Given the description of an element on the screen output the (x, y) to click on. 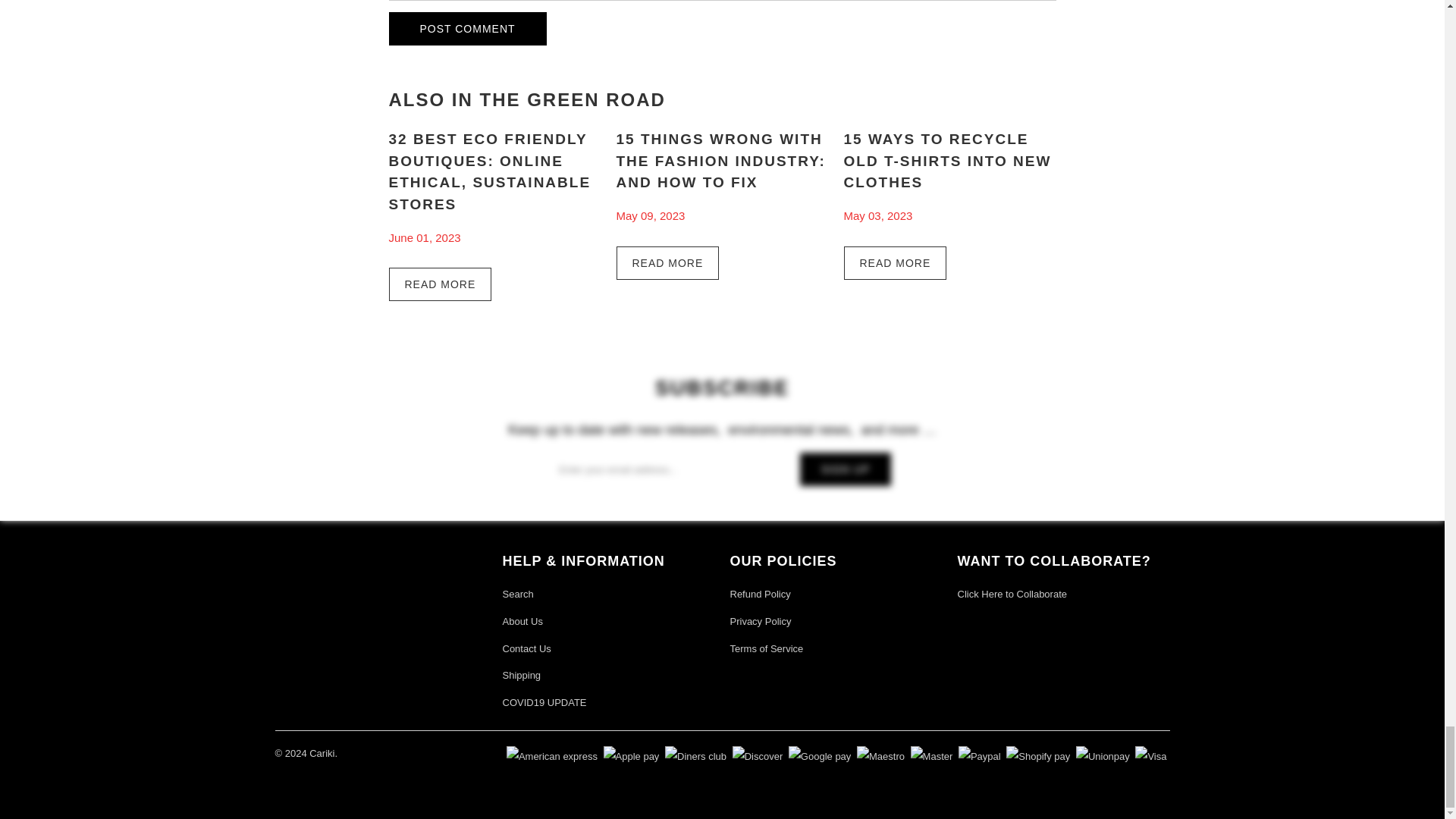
Post comment (467, 28)
Sign Up (845, 469)
